Given the description of an element on the screen output the (x, y) to click on. 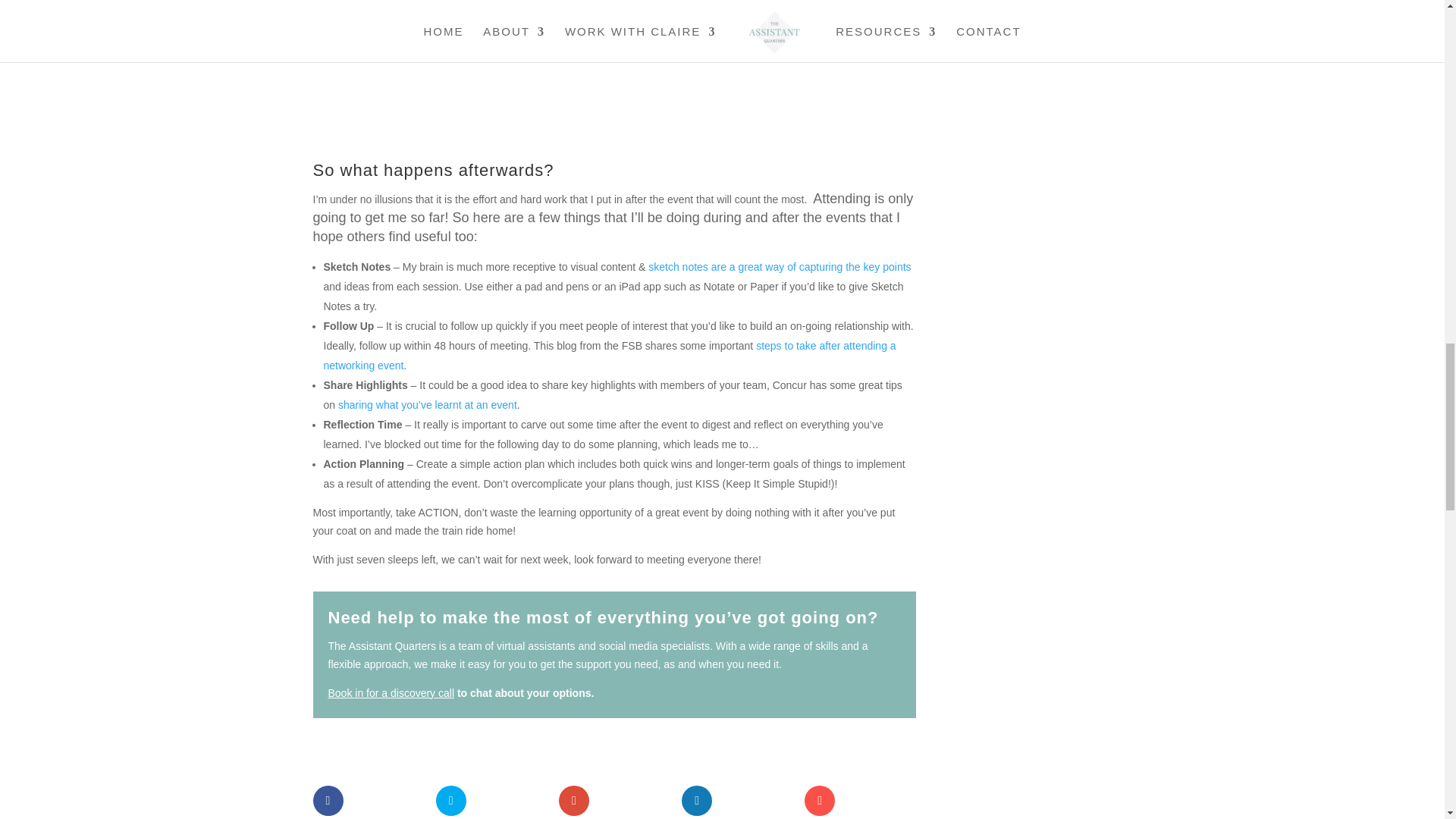
steps to take after attending a networking event (609, 355)
Book a discovery call (390, 693)
Book in for a discovery call (390, 693)
sketch notes are a great way of capturing the key points (779, 266)
